Given the description of an element on the screen output the (x, y) to click on. 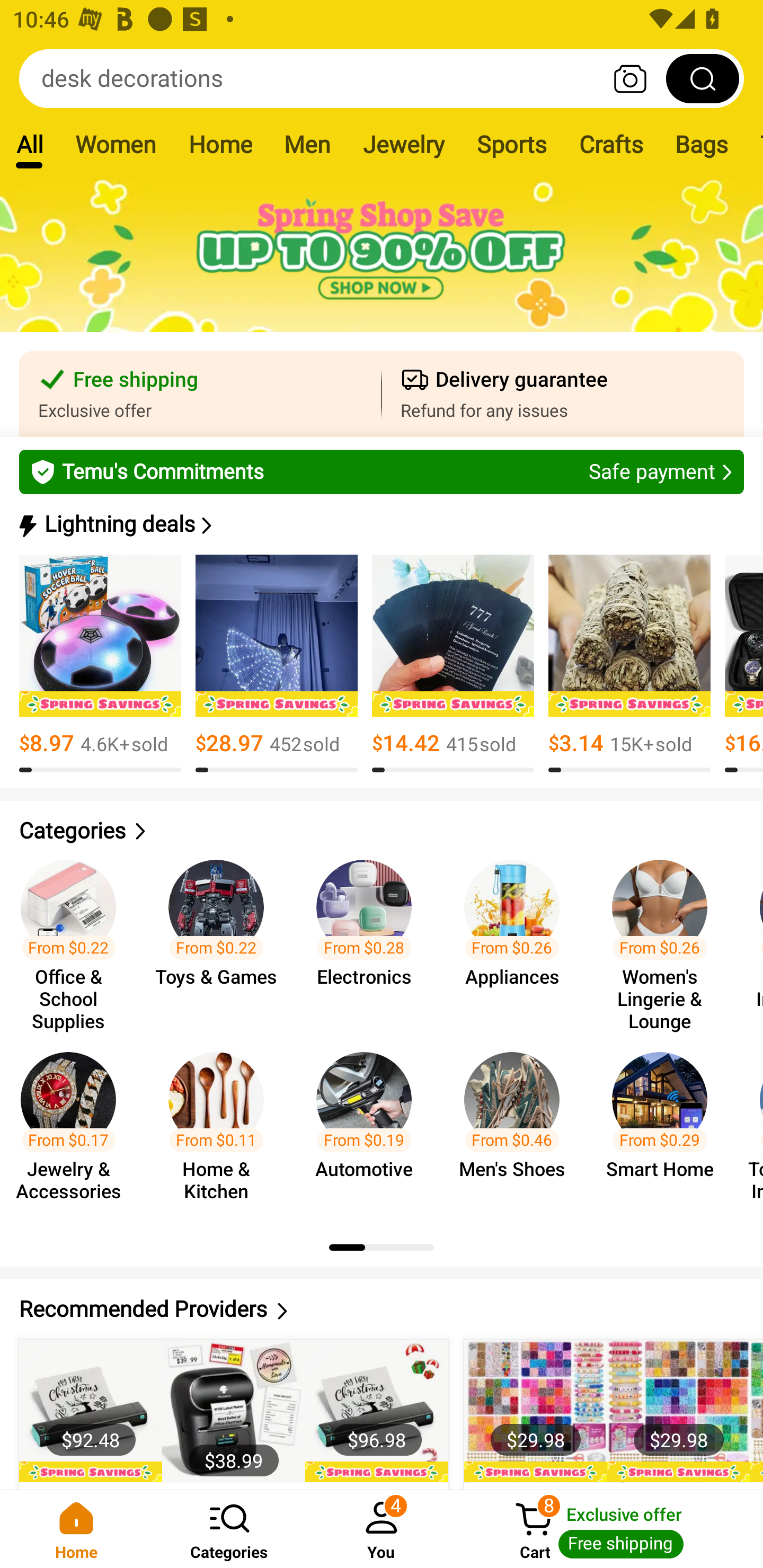
desk decorations (381, 78)
All (29, 144)
Women (115, 144)
Home (219, 144)
Men (306, 144)
Jewelry (403, 144)
Sports (511, 144)
Crafts (611, 144)
Bags (701, 144)
Free shipping Exclusive offer (200, 394)
Delivery guarantee Refund for any issues (562, 394)
Temu's Commitments (381, 471)
Lightning deals (379, 524)
$8.97 4.6K+￼sold 8.0 (100, 664)
$28.97 452￼sold 8.0 (276, 664)
$14.42 415￼sold 8.0 (453, 664)
$3.14 15K+￼sold 8.0 (629, 664)
Categories (381, 830)
From $0.22 Office & School Supplies (74, 936)
From $0.22 Toys & Games (222, 936)
From $0.28 Electronics (369, 936)
From $0.26 Appliances (517, 936)
From $0.26 Women's Lingerie & Lounge (665, 936)
From $0.17 Jewelry & Accessories (74, 1128)
From $0.11 Home & Kitchen (222, 1128)
From $0.19 Automotive (369, 1128)
From $0.46 Men's Shoes (517, 1128)
From $0.29 Smart Home (665, 1128)
Recommended Providers (381, 1309)
Home (76, 1528)
Categories (228, 1528)
You 4 You (381, 1528)
Cart 8 Cart Exclusive offer (610, 1528)
